Given the description of an element on the screen output the (x, y) to click on. 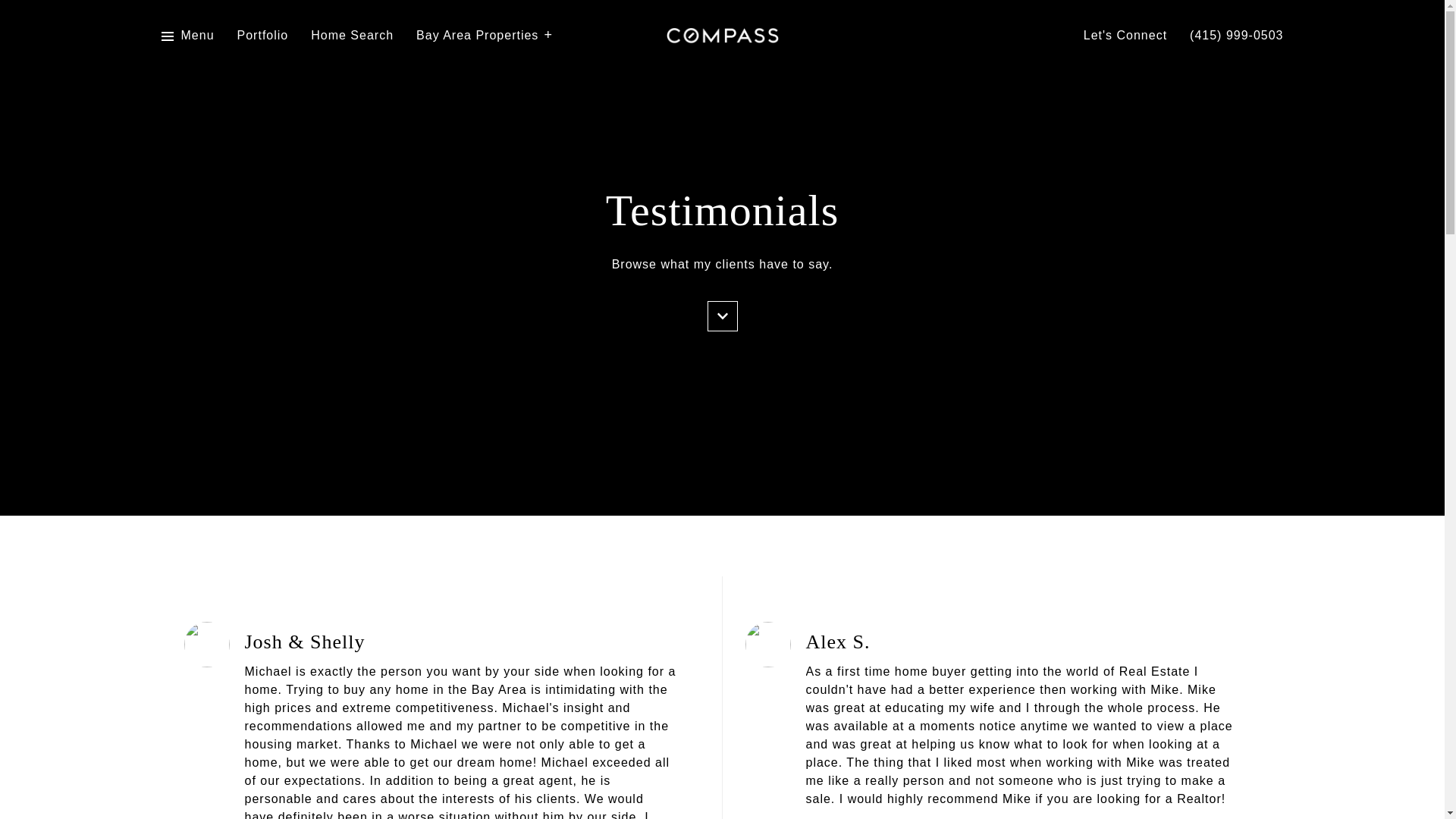
Let'S Connect (1125, 35)
Home Search (352, 35)
Bay Area Properties (484, 35)
Portfolio (262, 35)
Menu (197, 35)
Menu (187, 35)
